Given the description of an element on the screen output the (x, y) to click on. 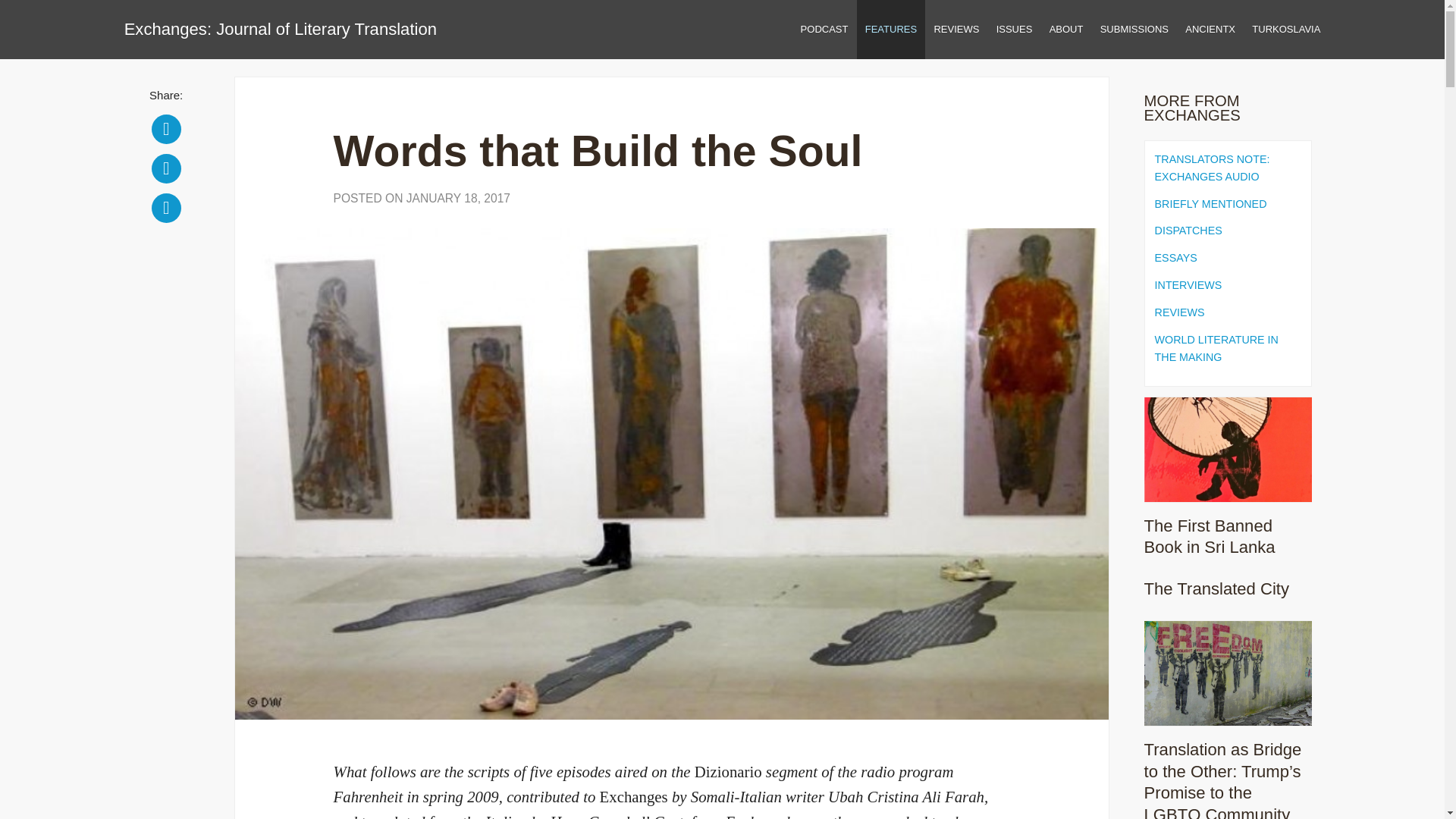
Go to the Features (891, 29)
WORLD LITERATURE IN THE MAKING (1227, 348)
ANCIENTX (1209, 29)
Go to the Translators Note (824, 29)
BRIEFLY MENTIONED (1227, 203)
Go to the Submissions (1134, 29)
REVIEWS (1227, 312)
SUBMISSIONS (1134, 29)
Share on Facebook (165, 129)
Go to the Ancient Exchanges (1209, 29)
